Given the description of an element on the screen output the (x, y) to click on. 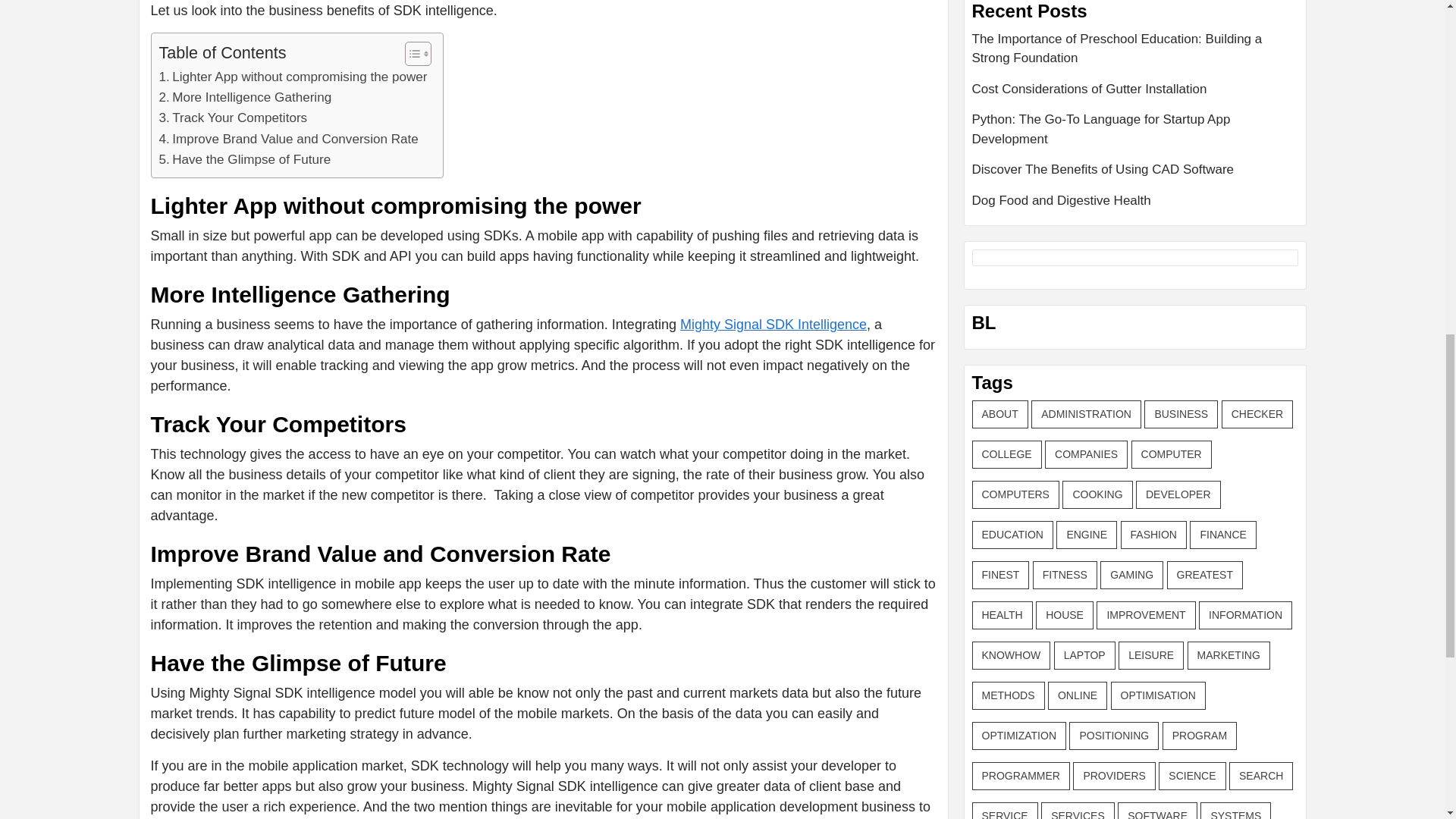
More Intelligence Gathering (244, 96)
Track Your Competitors (232, 117)
BUSINESS (1180, 414)
Lighter App without compromising the power (293, 76)
More Intelligence Gathering (244, 96)
Improve Brand Value and Conversion Rate (288, 138)
CHECKER (1256, 414)
Mighty Signal SDK Intelligence (772, 324)
Discover The Benefits of Using CAD Software (1135, 174)
ADMINISTRATION (1085, 414)
Dog Food and Digestive Health (1135, 200)
Cost Considerations of Gutter Installation (1135, 94)
Improve Brand Value and Conversion Rate (288, 138)
Python: The Go-To Language for Startup App Development (1135, 134)
